Given the description of an element on the screen output the (x, y) to click on. 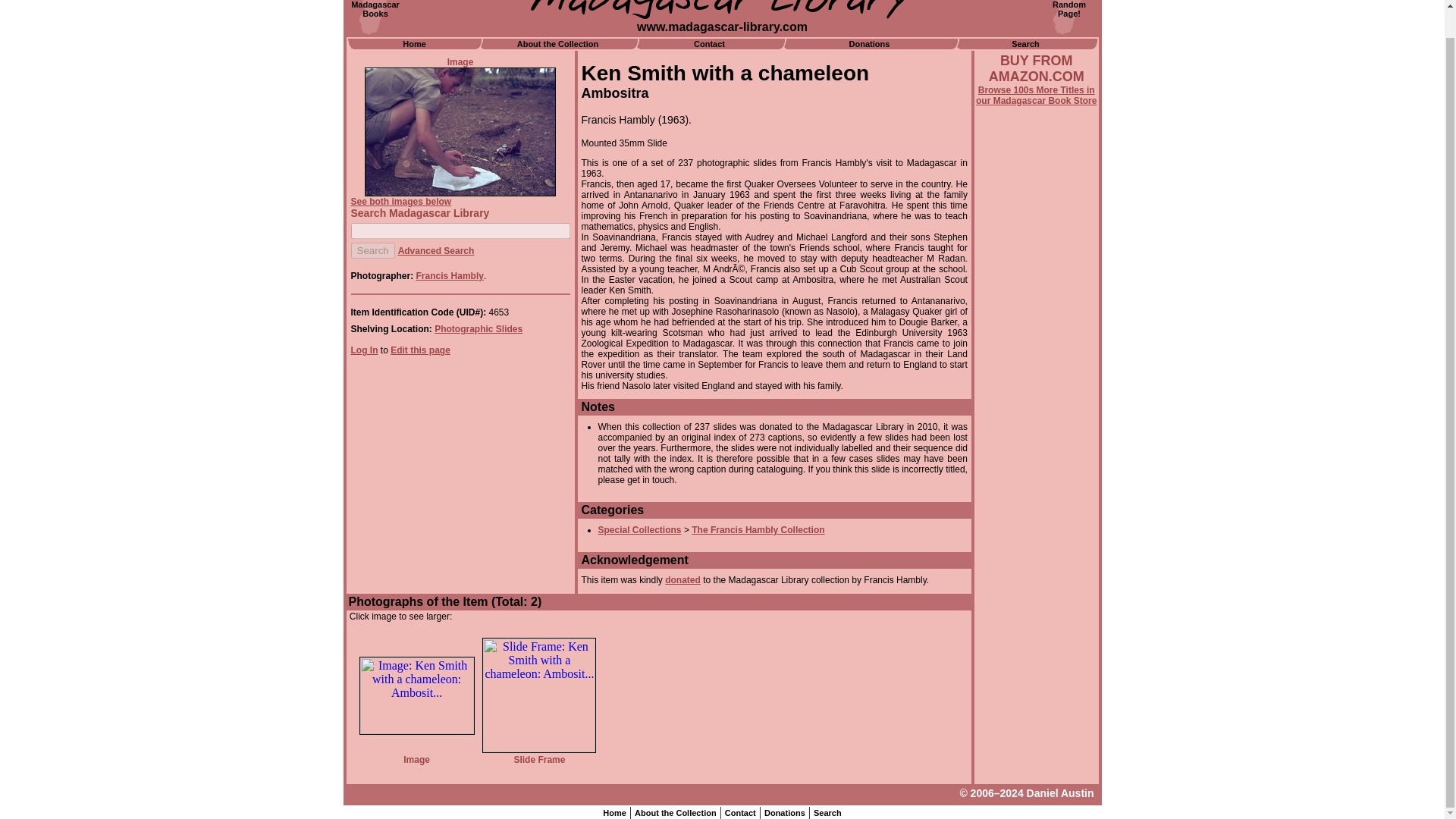
Search (1069, 9)
About the Collection (827, 812)
Donations (675, 812)
Browse 100s More Titles in our Madagascar Book Store (784, 812)
Edit this page (1035, 95)
Search (419, 349)
See both images below (372, 250)
Contact (400, 201)
Special Collections (740, 812)
Photographic Slides (638, 529)
Home (477, 328)
Search (614, 812)
About the Collection (372, 250)
Contact (557, 43)
